Given the description of an element on the screen output the (x, y) to click on. 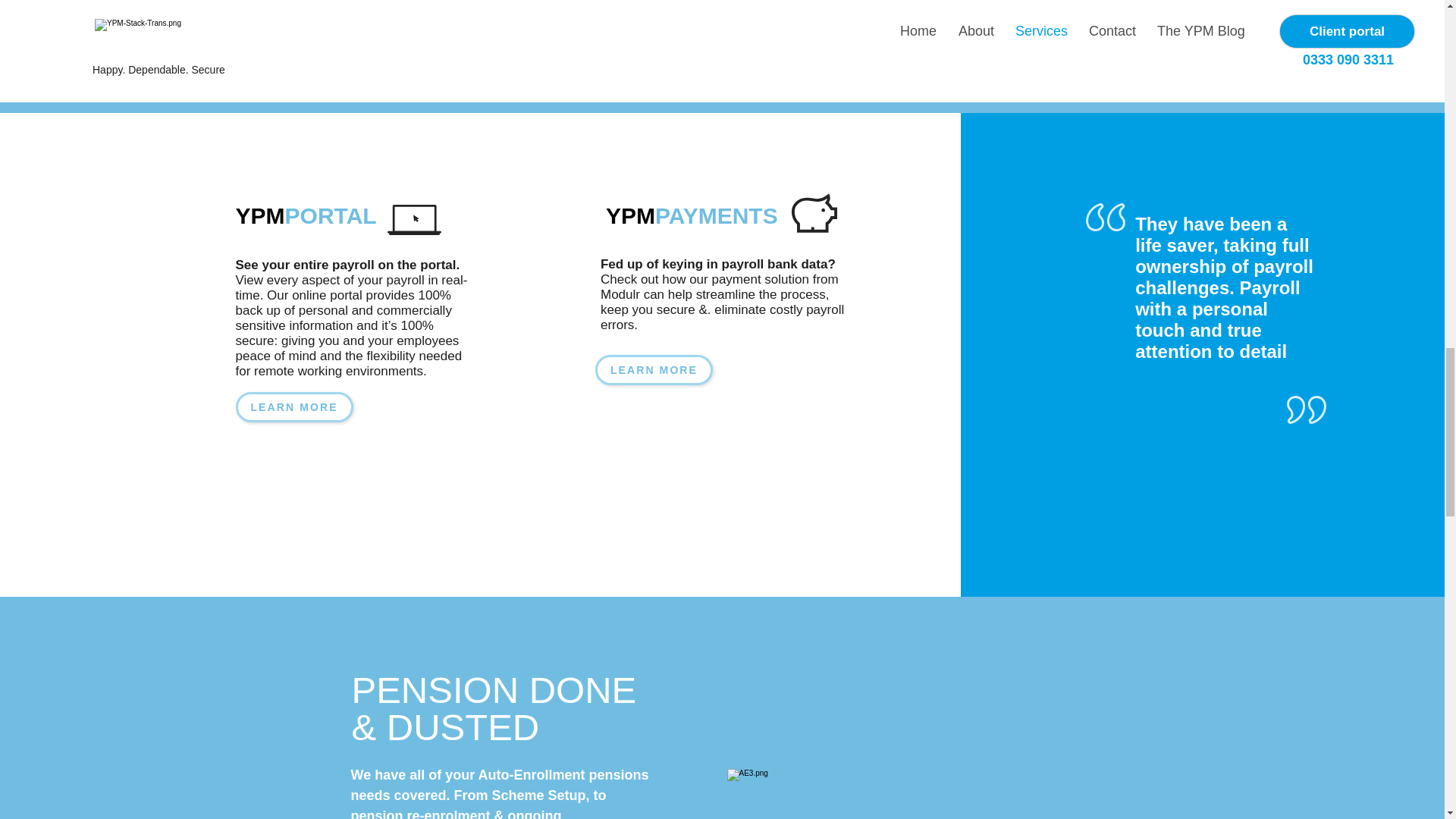
LEARN MORE (654, 369)
LEARN MORE (294, 407)
